Given the description of an element on the screen output the (x, y) to click on. 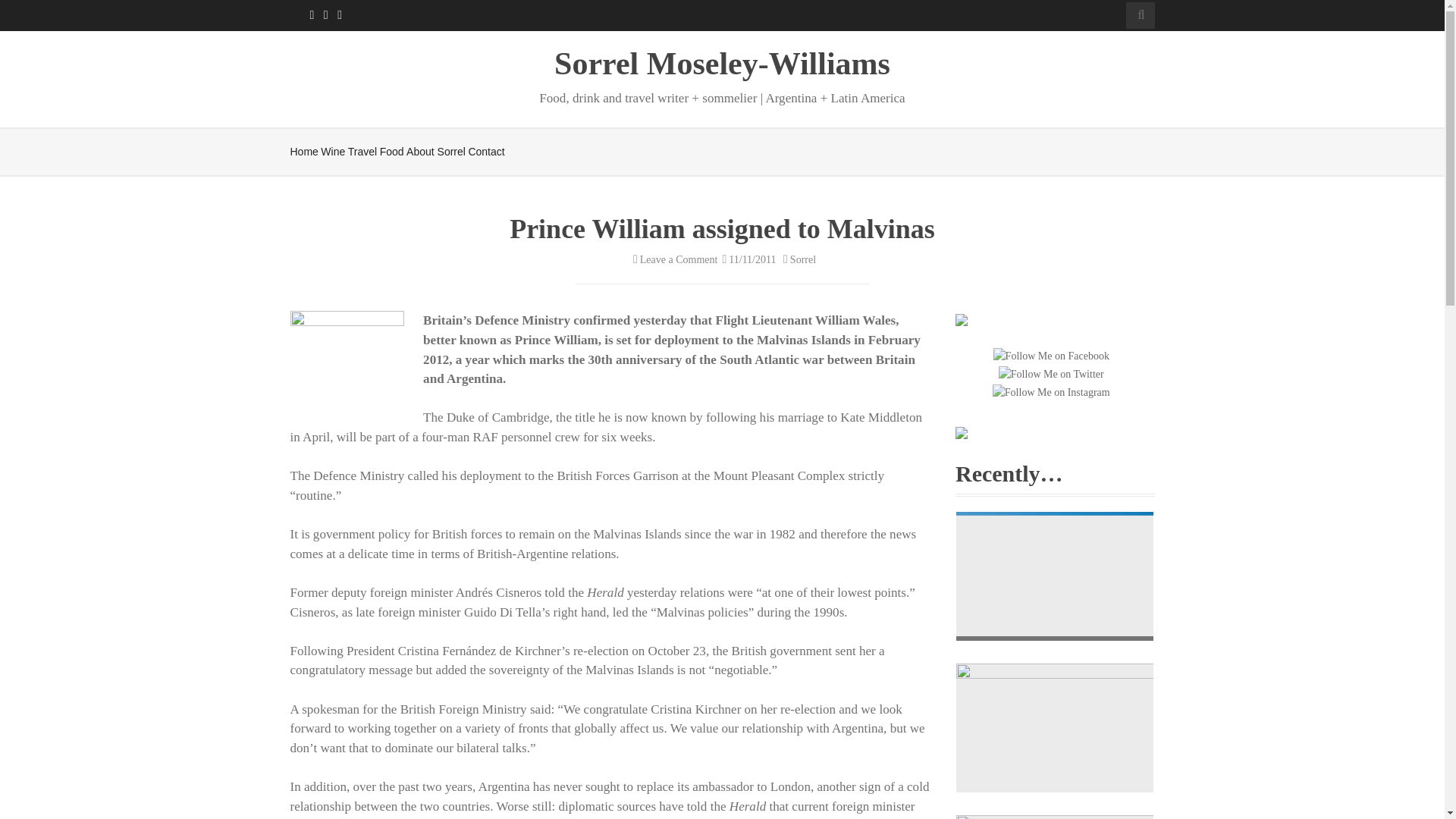
Facebook (309, 15)
Instagram (338, 15)
About Sorrel (435, 151)
Follow Me on Instagram (1050, 392)
Leave a Comment (672, 259)
Travel (362, 151)
Follow Me on Twitter (1050, 374)
Food (392, 151)
Sorrel Moseley-Williams (721, 63)
Twitter (324, 15)
Buenos Aires wine shops: 10 to visit (1054, 727)
Wine (332, 151)
Contact (485, 151)
The 24 most underrated travel destinations in the world 2024 (1054, 573)
Sorrel (796, 259)
